Given the description of an element on the screen output the (x, y) to click on. 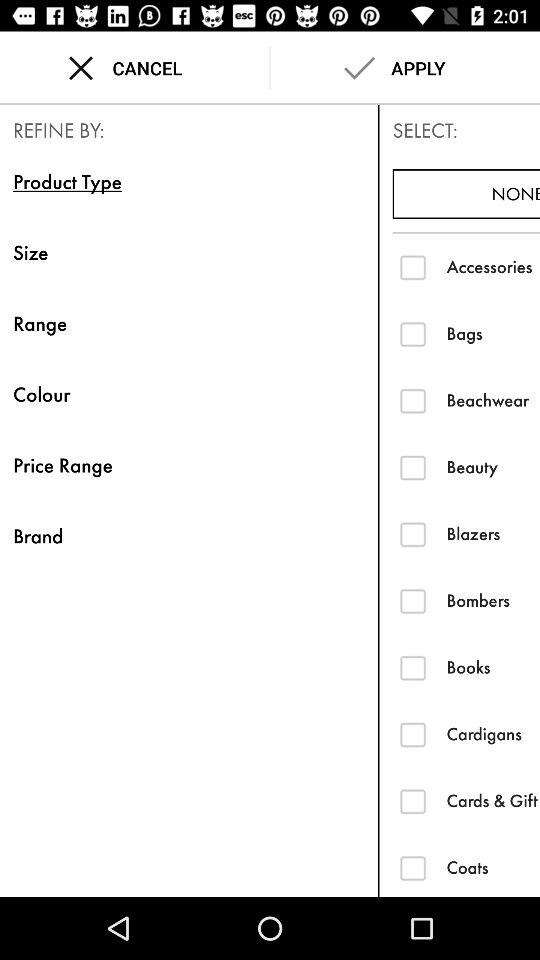
flip to the none (466, 194)
